Given the description of an element on the screen output the (x, y) to click on. 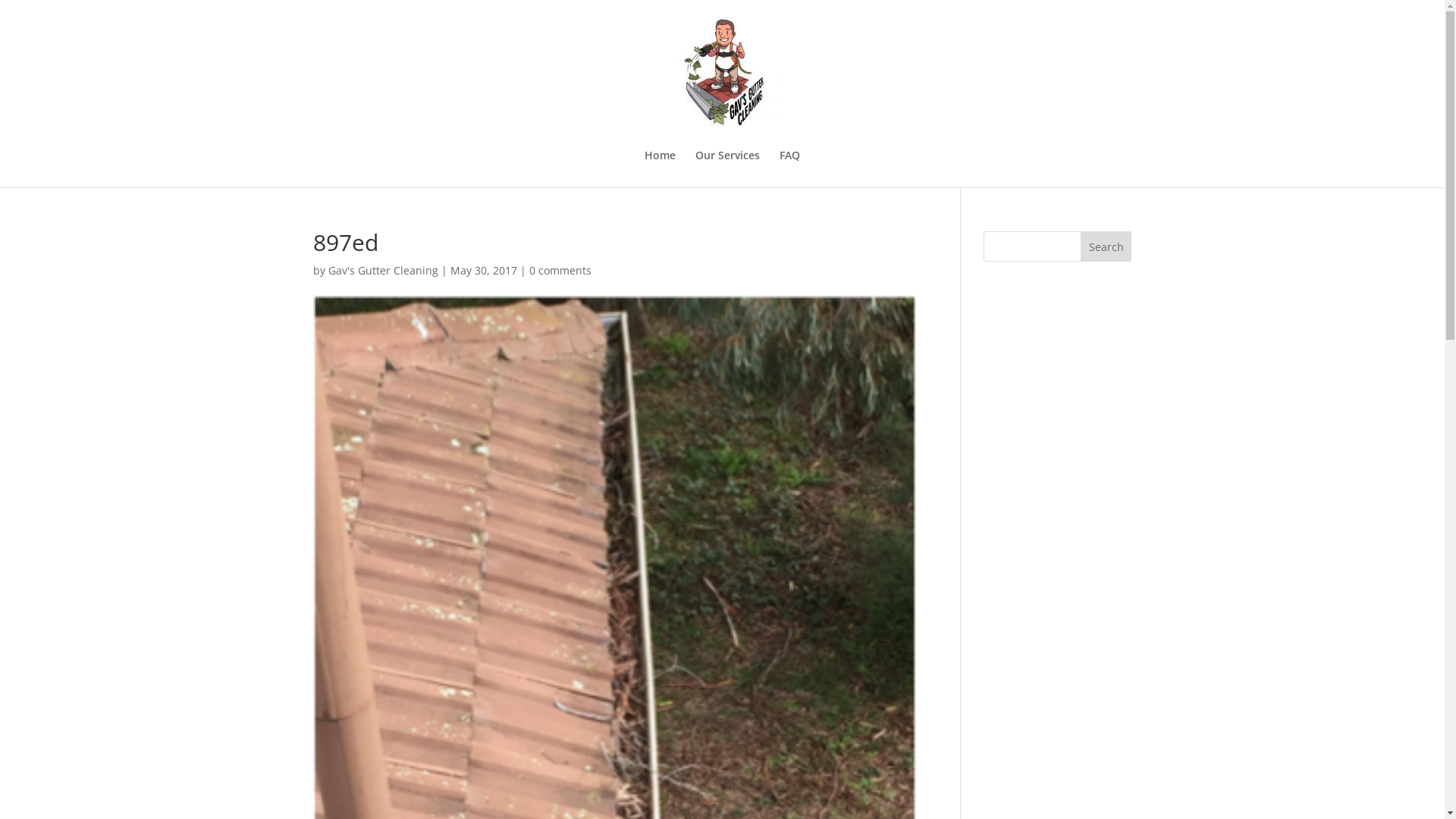
FAQ Element type: text (789, 168)
0 comments Element type: text (560, 270)
Gav's Gutter Cleaning Element type: text (382, 270)
Our Services Element type: text (727, 168)
Home Element type: text (659, 168)
Search Element type: text (1106, 246)
